Given the description of an element on the screen output the (x, y) to click on. 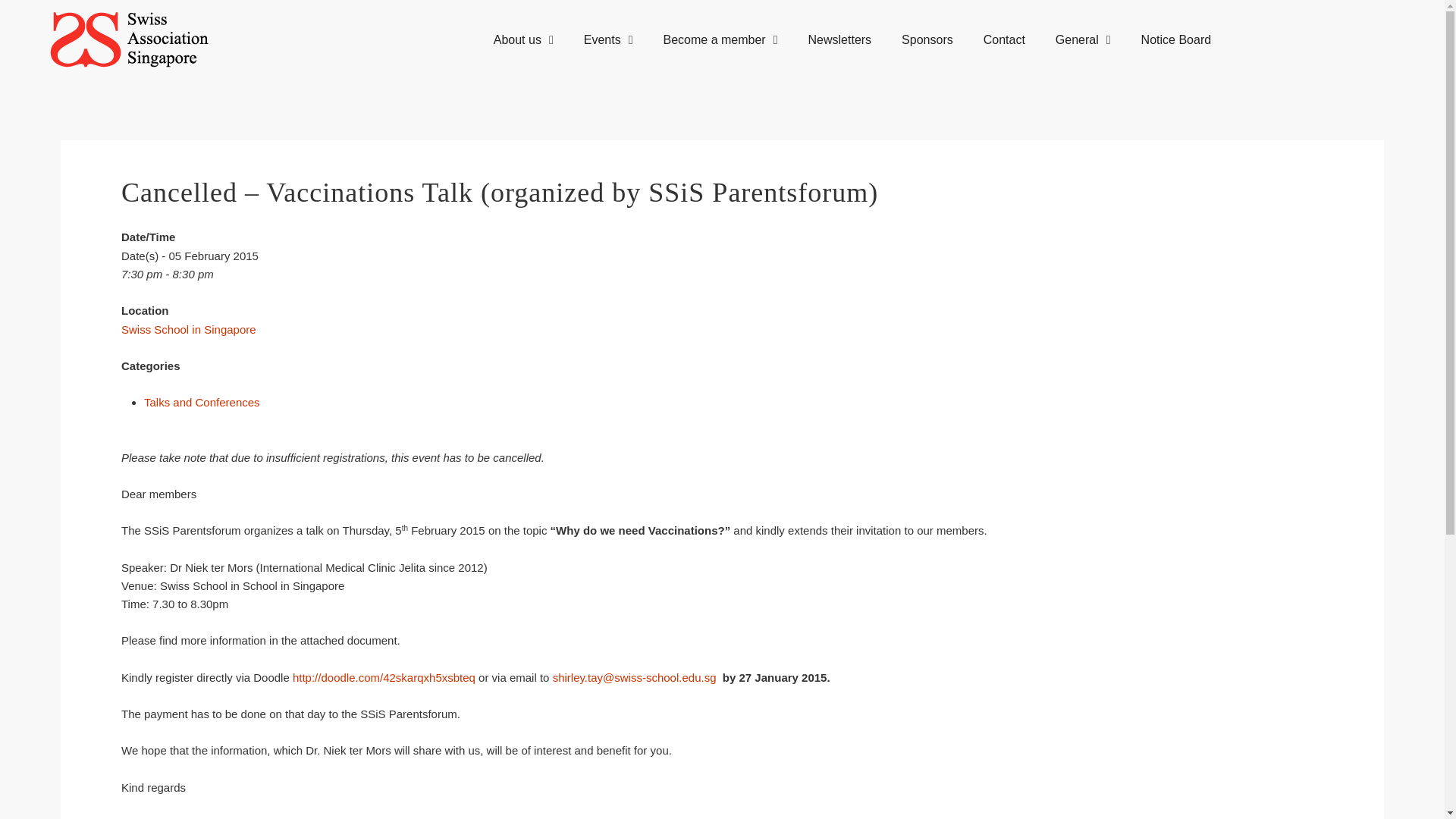
Become a member (720, 39)
About us (524, 39)
Contact (1004, 39)
Newsletters (839, 39)
Events (608, 39)
Notice Board (1176, 39)
General (1083, 39)
Sponsors (927, 39)
